Given the description of an element on the screen output the (x, y) to click on. 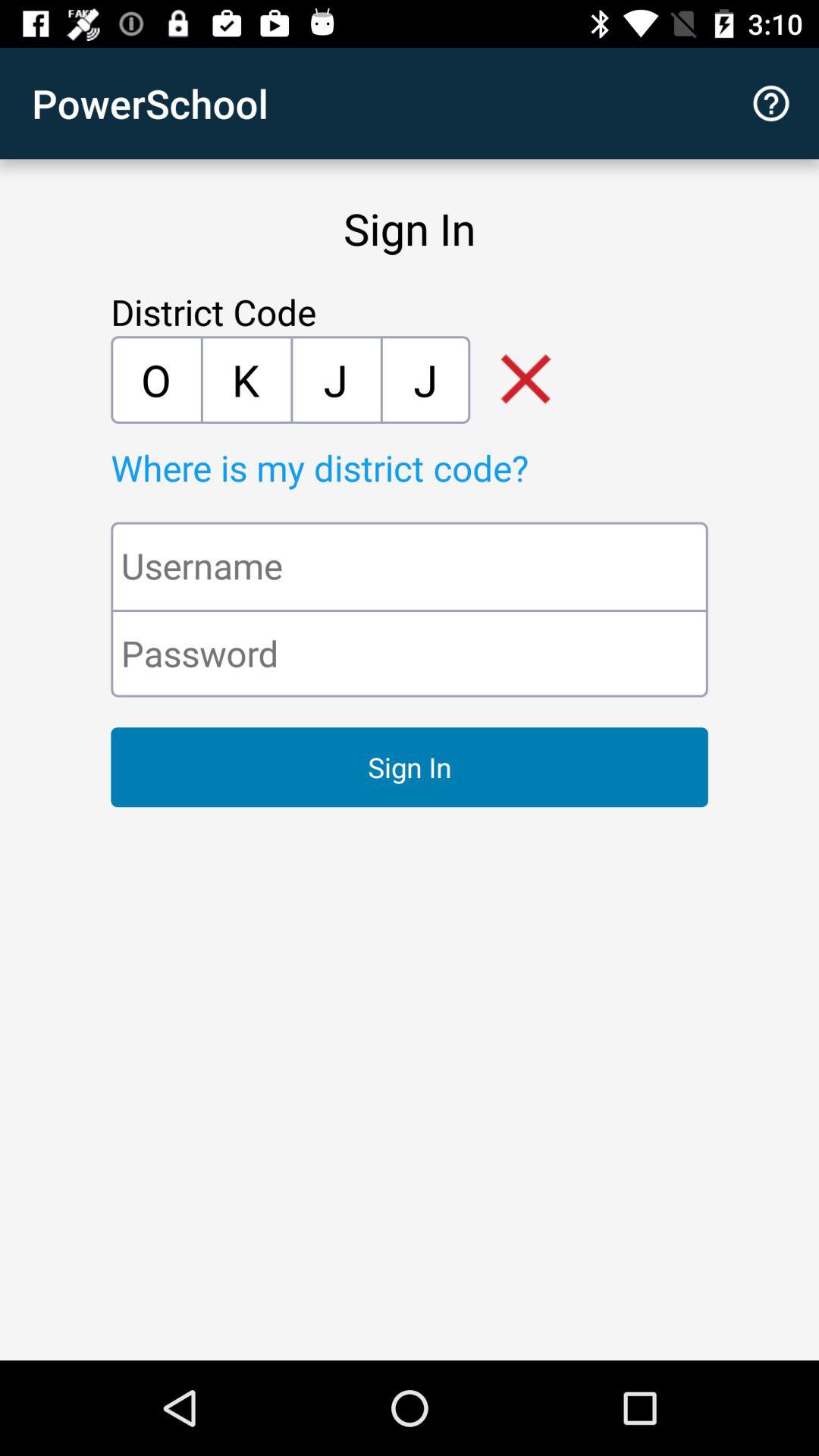
choose item next to powerschool (771, 103)
